Given the description of an element on the screen output the (x, y) to click on. 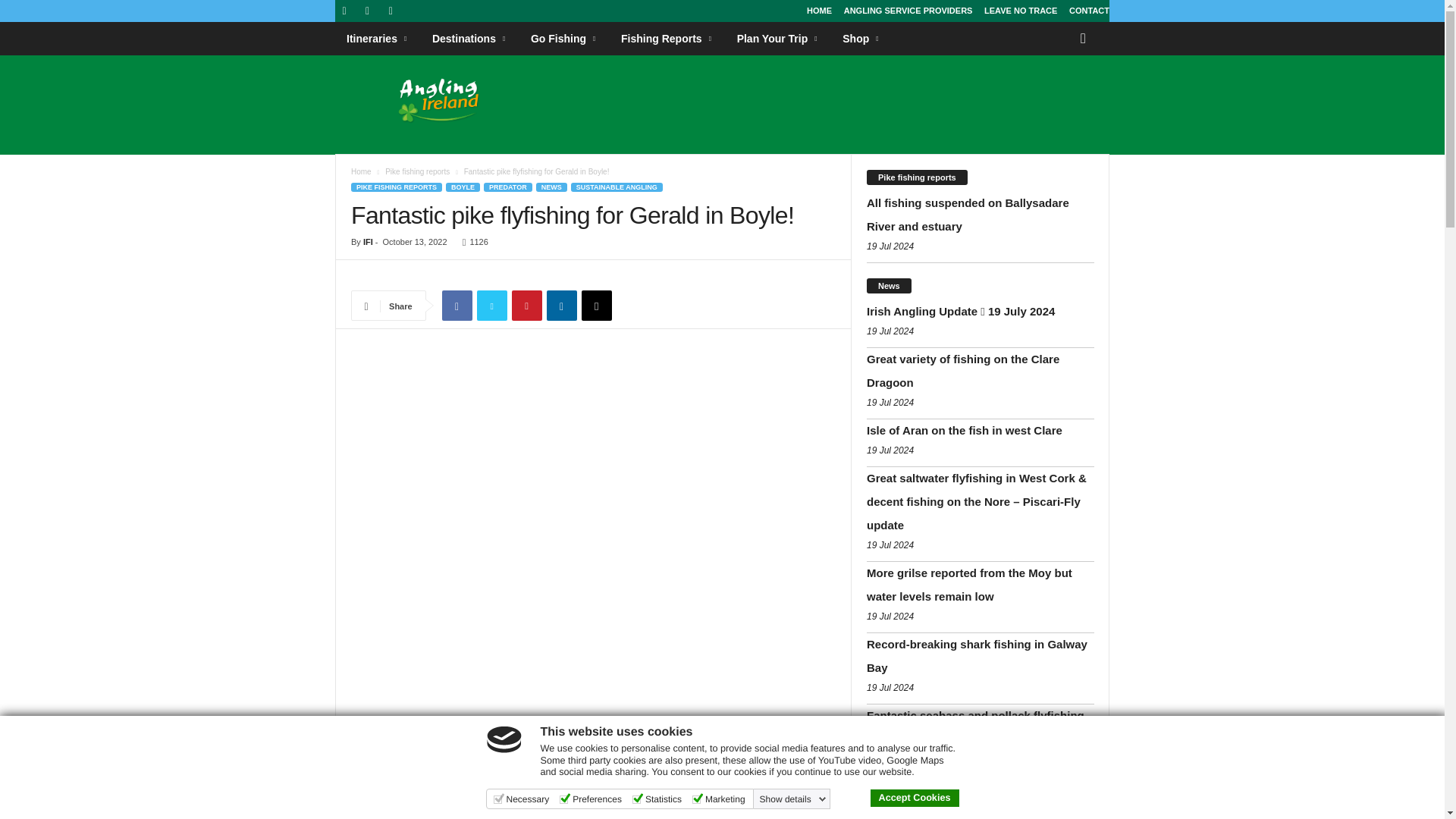
Accept Cookies (914, 798)
Show details (793, 799)
